Given the description of an element on the screen output the (x, y) to click on. 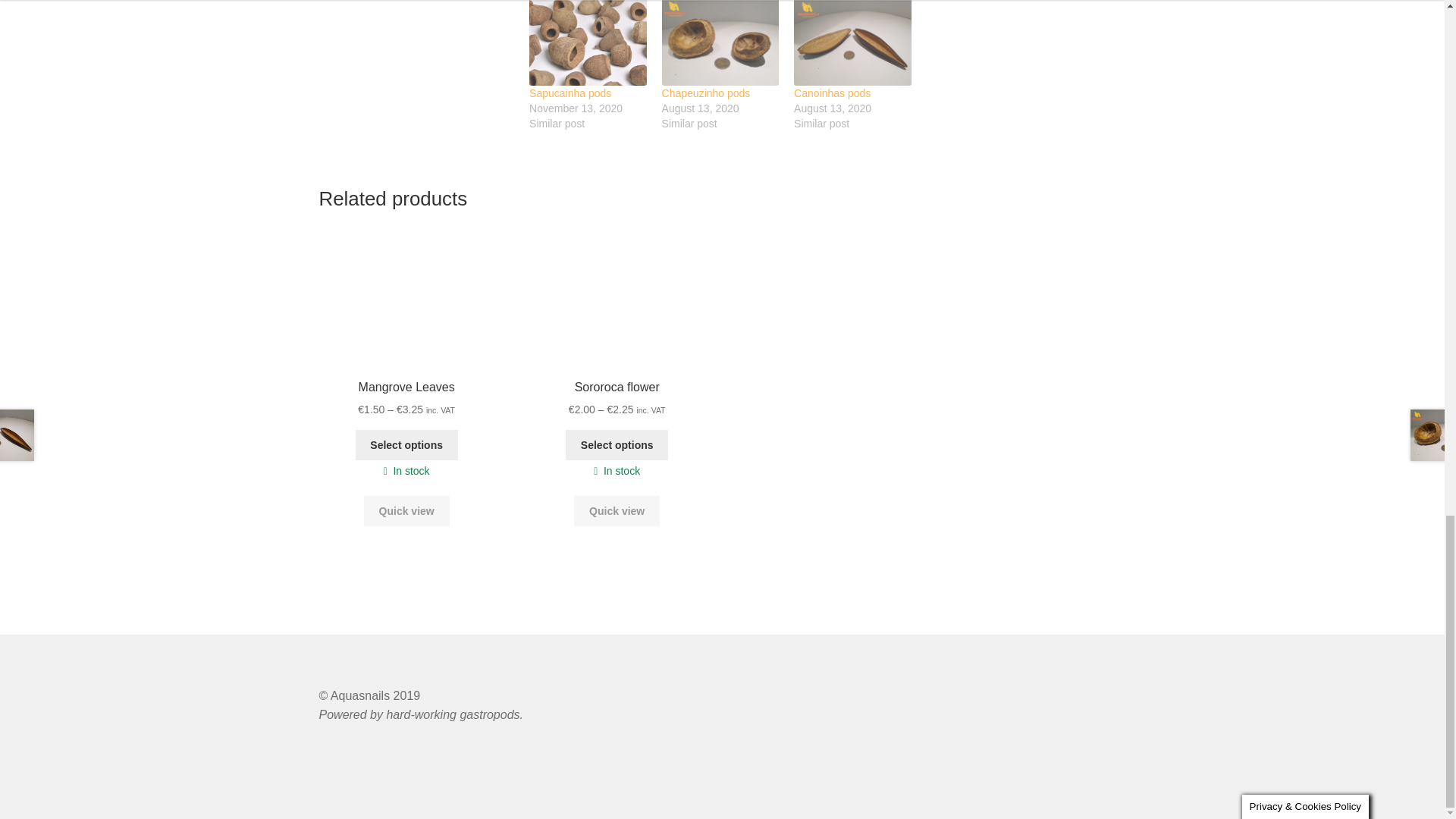
Sapucainha pods (587, 42)
Chapeuzinho pods (706, 92)
Chapeuzinho pods (720, 42)
Sapucainha pods (570, 92)
